Given the description of an element on the screen output the (x, y) to click on. 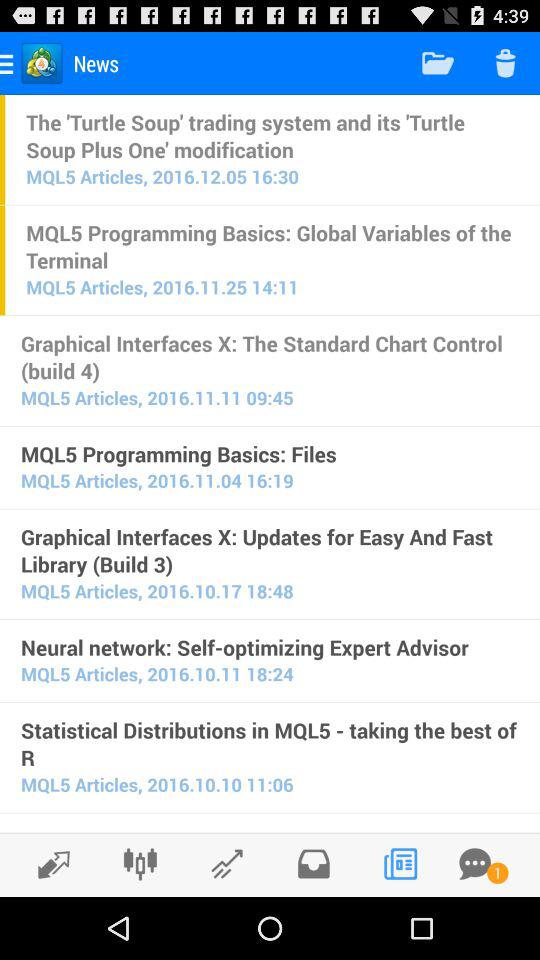
choose item above mql5 articles 2016 (270, 743)
